Given the description of an element on the screen output the (x, y) to click on. 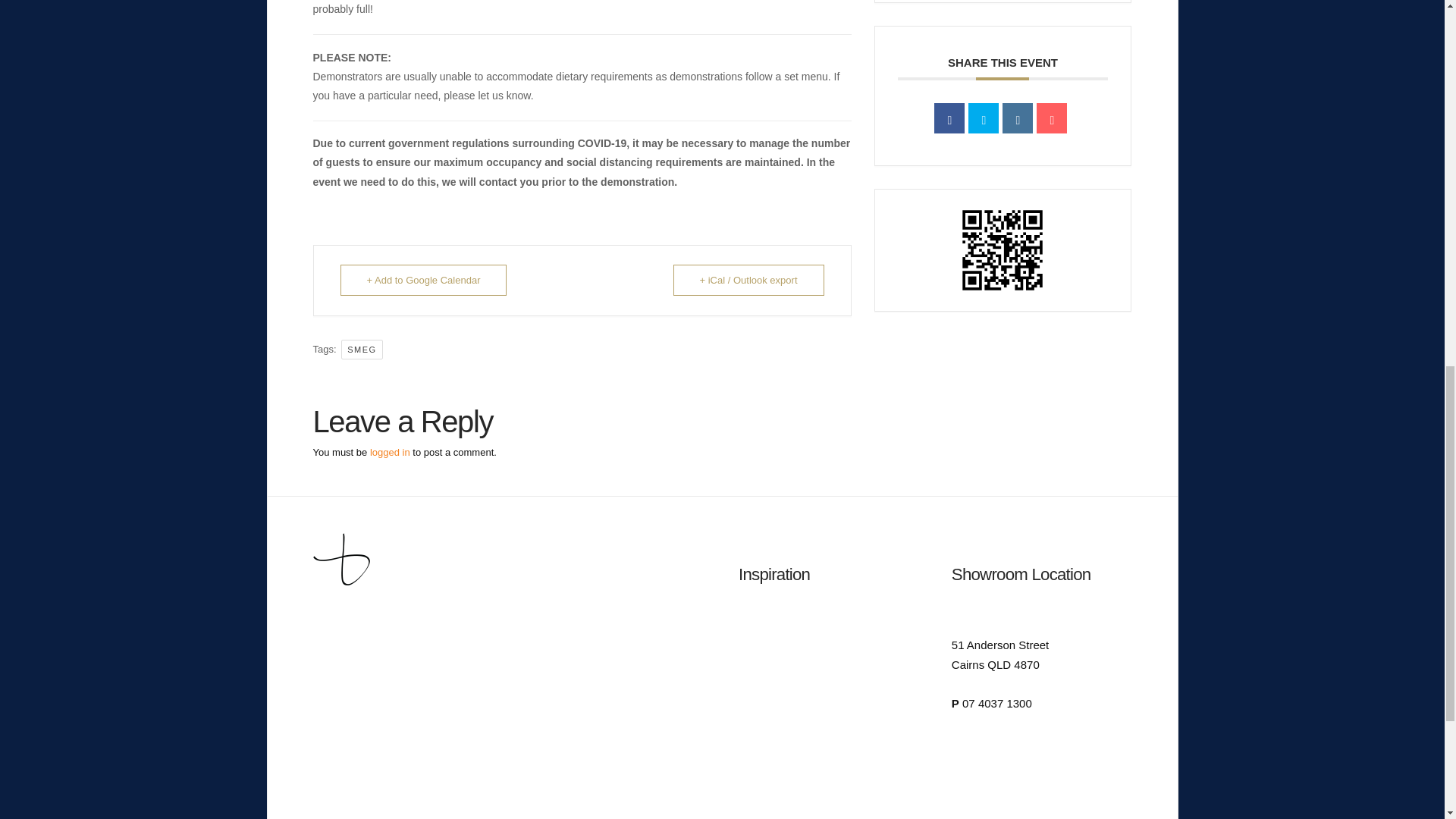
Linkedin (1017, 118)
logged in (389, 451)
Email (1051, 118)
Tweet (983, 118)
Share on Facebook (948, 118)
SMEG (360, 349)
